Given the description of an element on the screen output the (x, y) to click on. 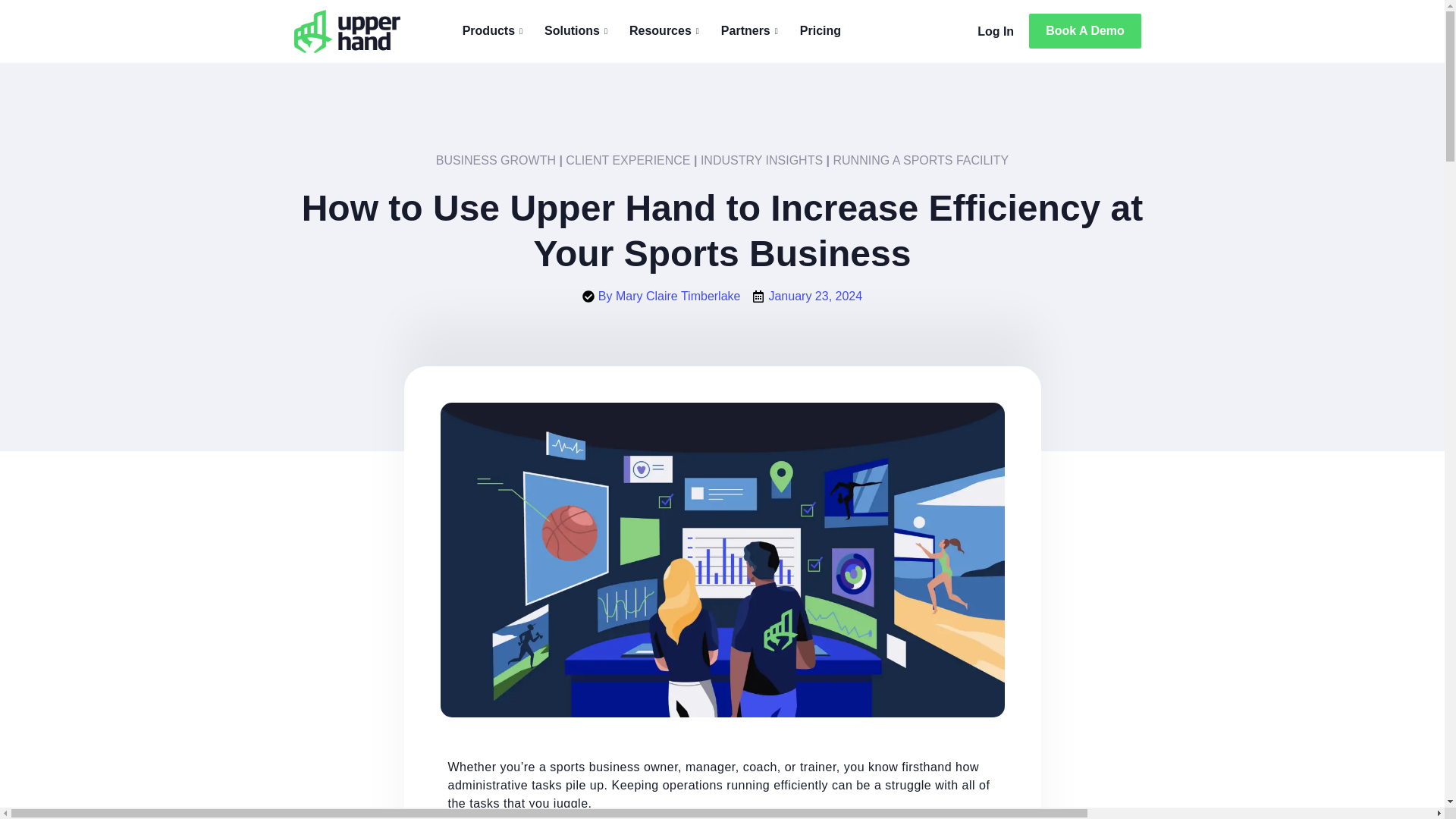
Products (493, 30)
Solutions (577, 30)
